Given the description of an element on the screen output the (x, y) to click on. 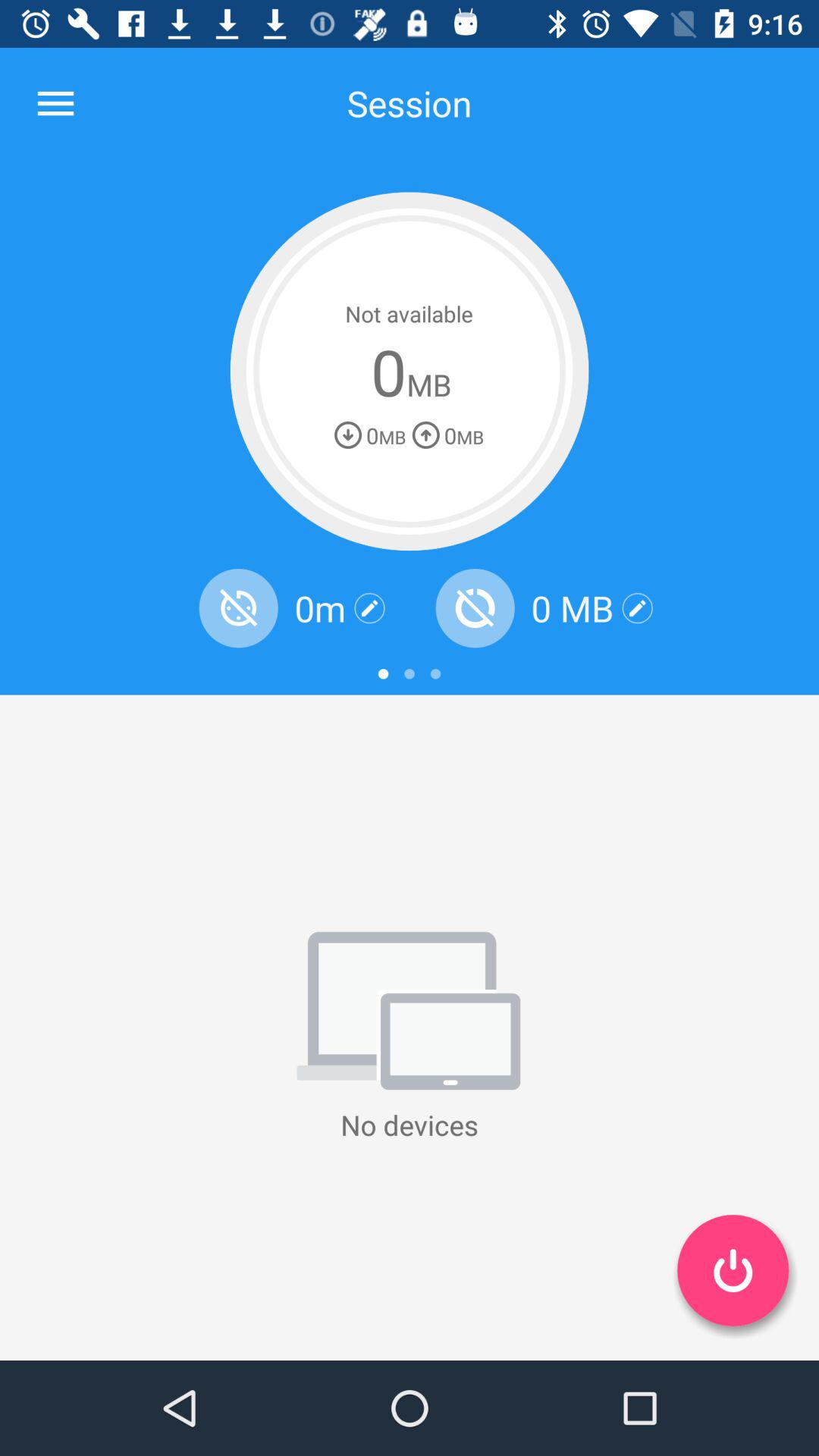
turn off the 0m item (319, 608)
